Given the description of an element on the screen output the (x, y) to click on. 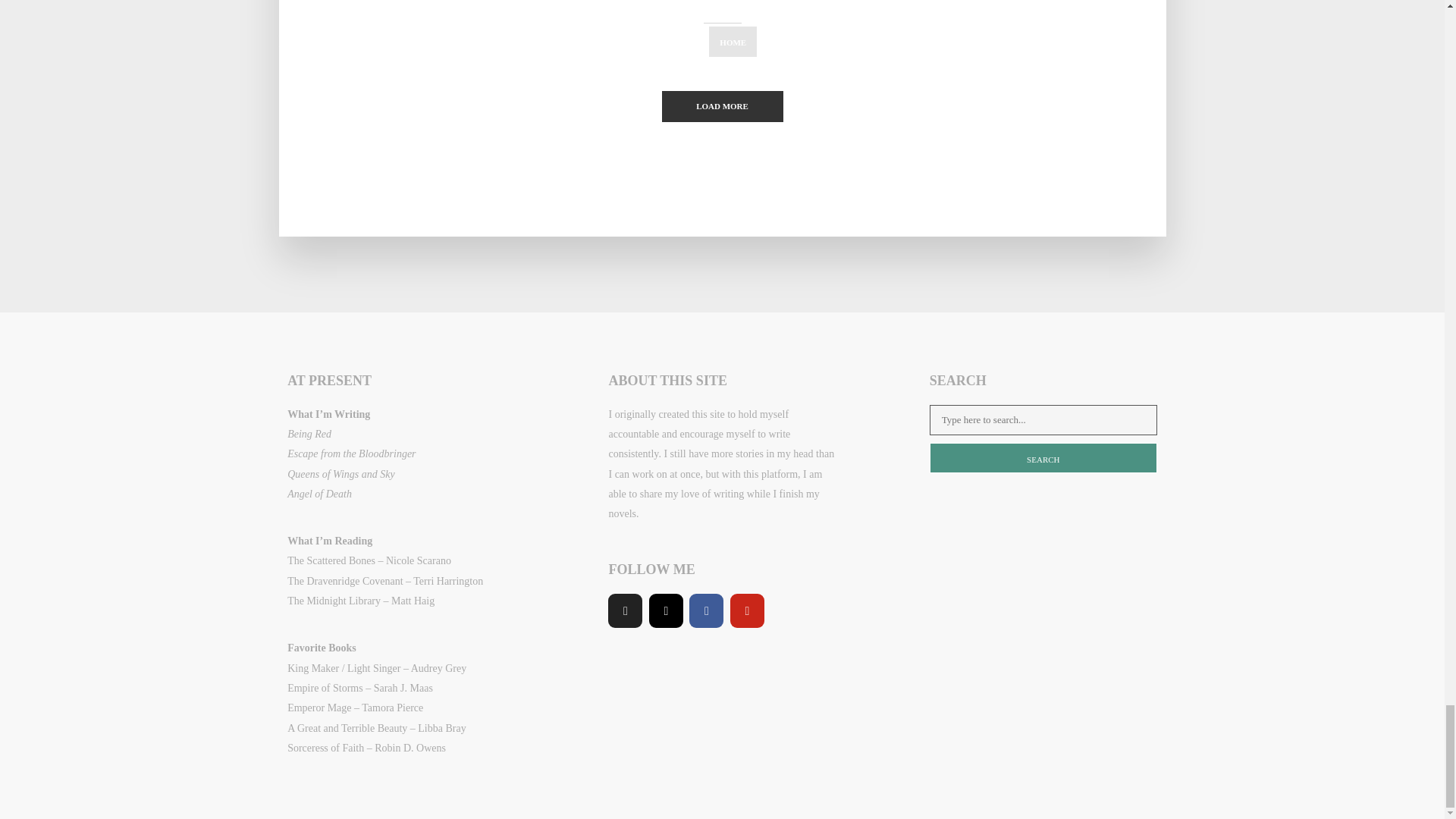
Pinterest (747, 610)
Instagram (665, 610)
Facebook (705, 610)
